Given the description of an element on the screen output the (x, y) to click on. 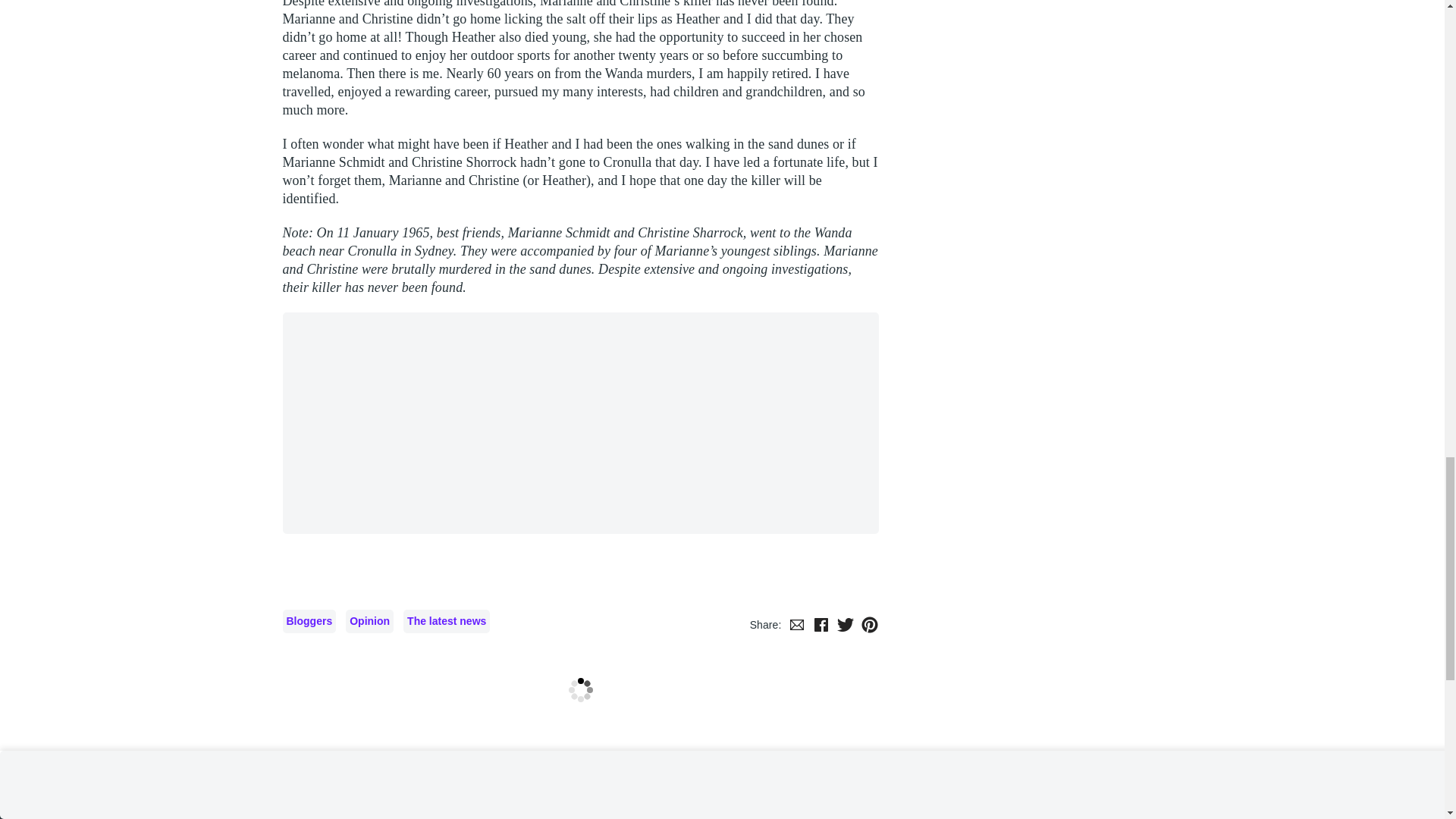
Share via email (796, 694)
Opinion (369, 690)
Share on Facebook (819, 694)
The latest news (446, 690)
Bloggers (309, 690)
Share on Twitter (844, 694)
Share on Pinterest (868, 694)
